Given the description of an element on the screen output the (x, y) to click on. 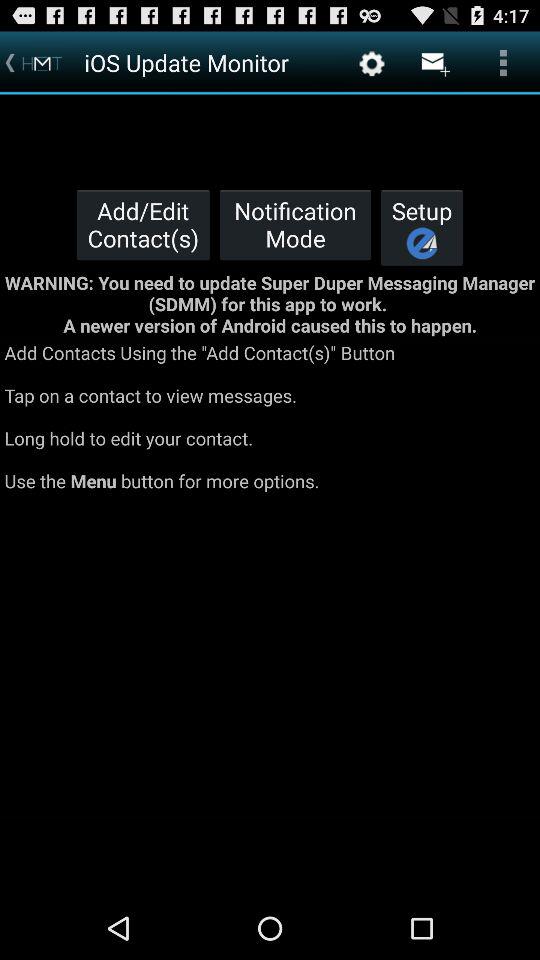
open the app above the warning you need item (422, 227)
